Given the description of an element on the screen output the (x, y) to click on. 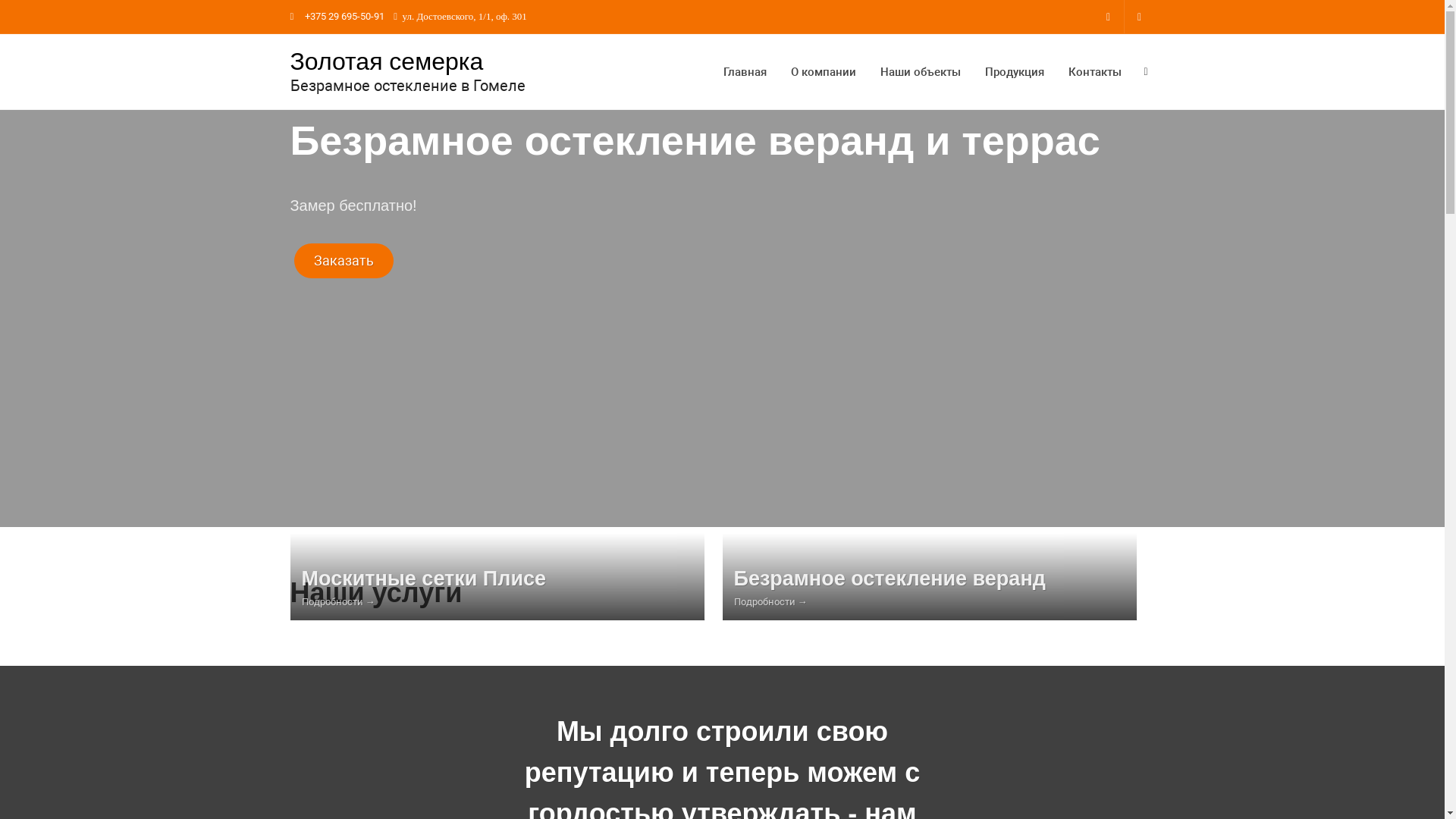
+375 29 695-50-91 Element type: text (345, 15)
Instagram Element type: hover (1108, 16)
zolotaya7@list.ru Element type: hover (1138, 16)
